Given the description of an element on the screen output the (x, y) to click on. 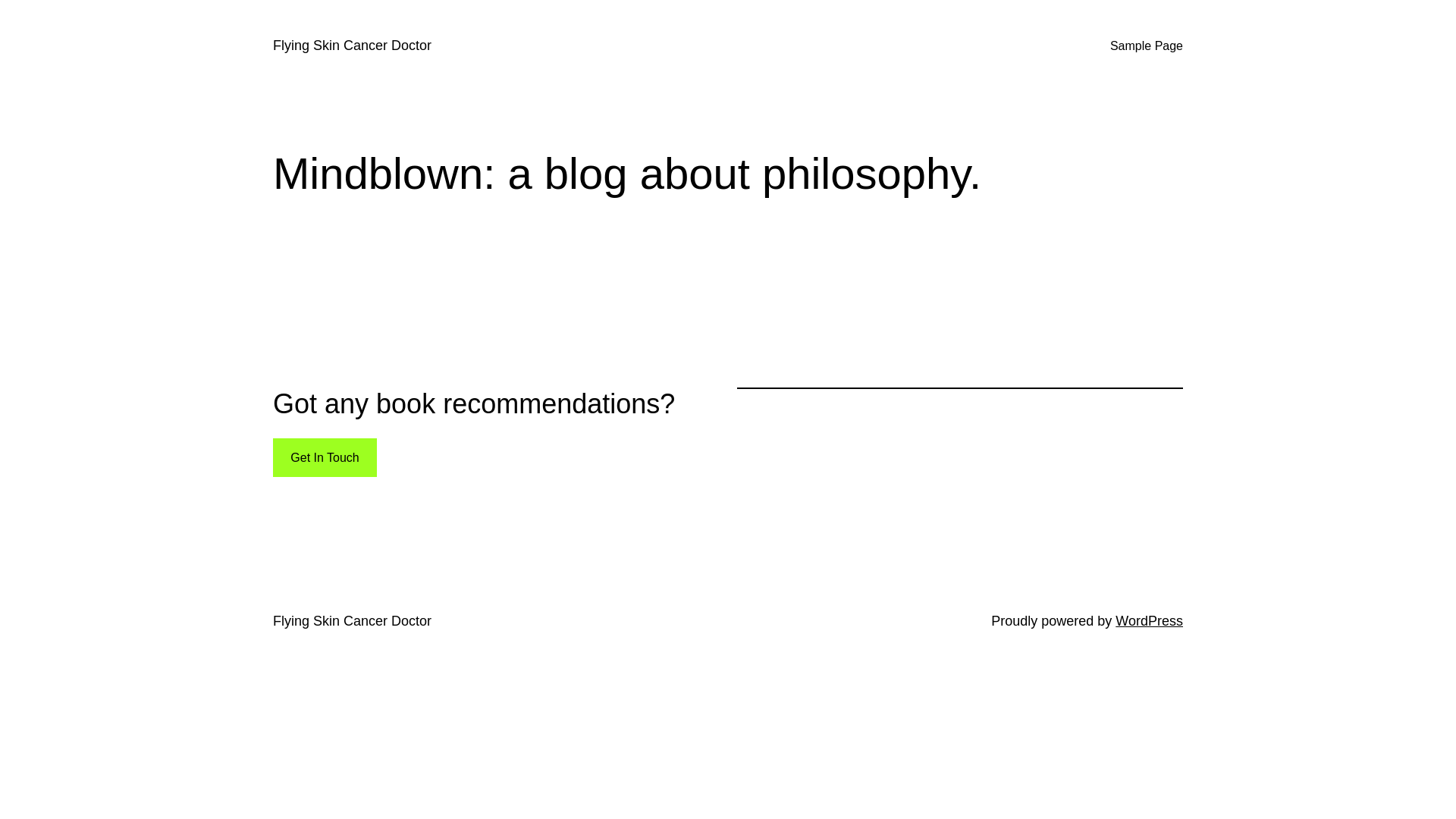
Flying Skin Cancer Doctor Element type: text (352, 45)
Sample Page Element type: text (1146, 46)
Get In Touch Element type: text (324, 457)
WordPress Element type: text (1149, 620)
Flying Skin Cancer Doctor Element type: text (352, 620)
